Given the description of an element on the screen output the (x, y) to click on. 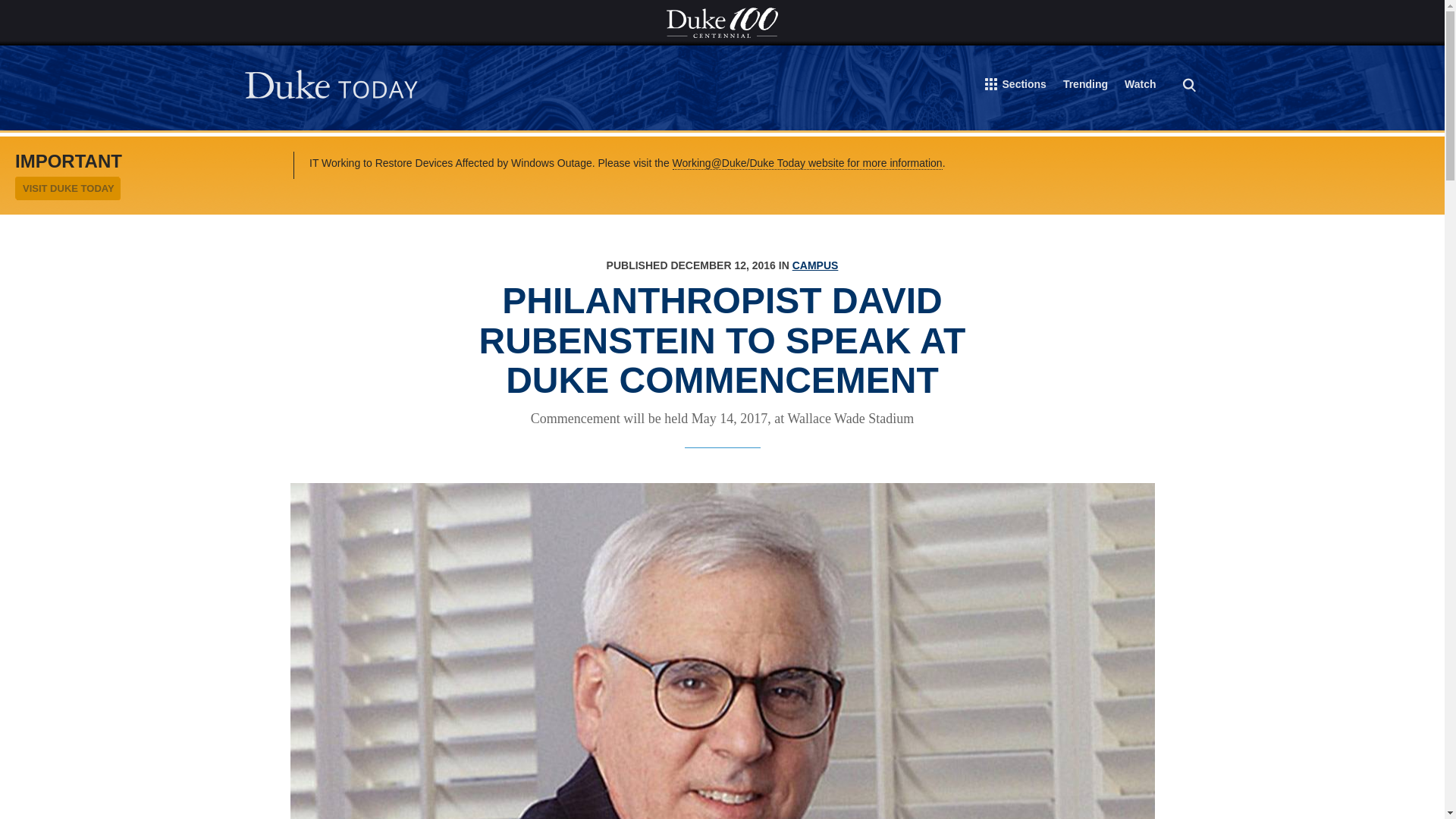
Sections (1015, 87)
Watch (1140, 86)
Trending (1085, 86)
